Given the description of an element on the screen output the (x, y) to click on. 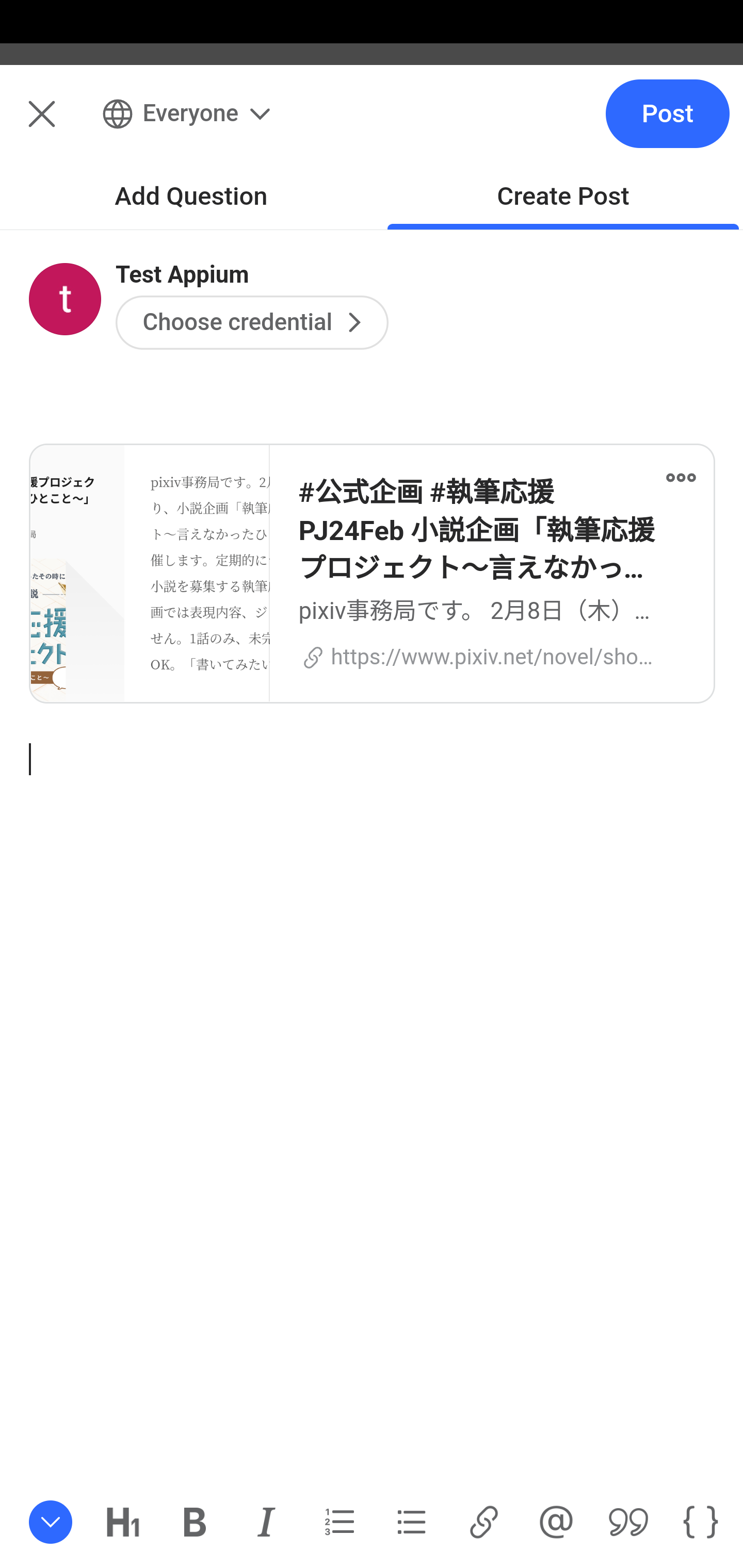
Me Answer Search Add (371, 125)
Me (64, 125)
